Given the description of an element on the screen output the (x, y) to click on. 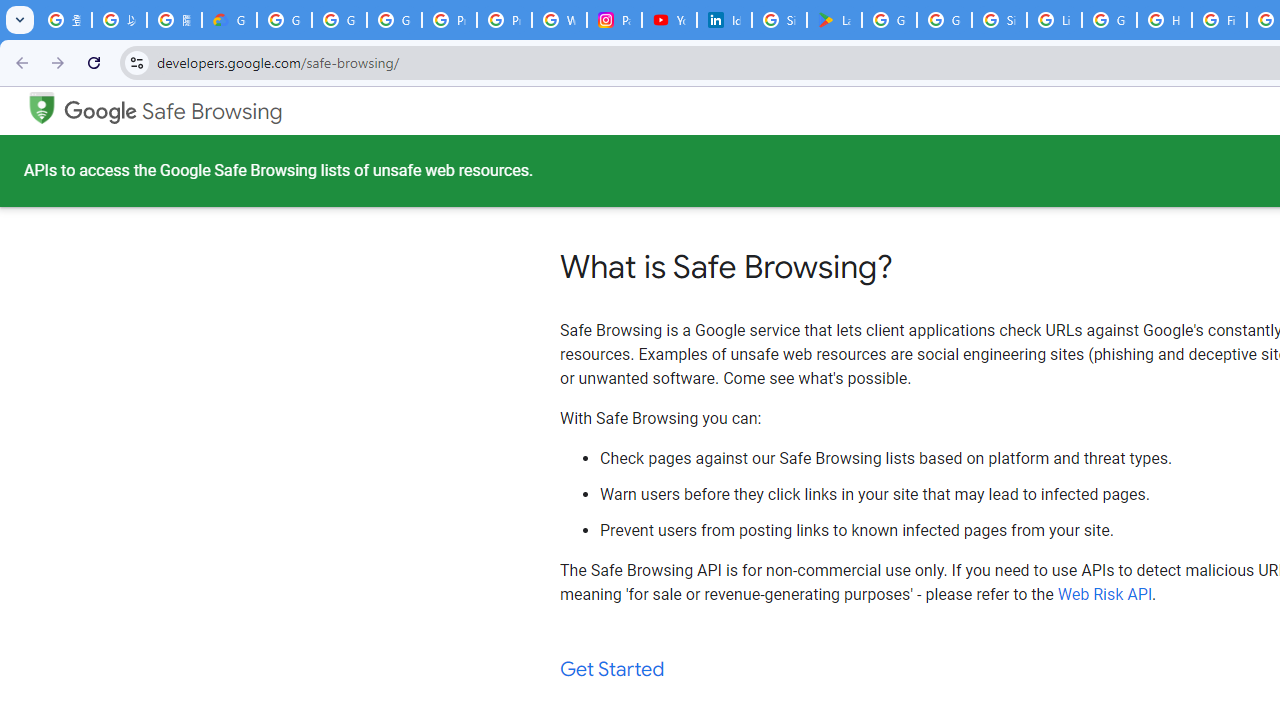
Web Risk API (1105, 594)
Sign in - Google Accounts (998, 20)
Google Safe Browsing (41, 106)
Google Safe Browsing (173, 111)
How do I create a new Google Account? - Google Account Help (1163, 20)
